Given the description of an element on the screen output the (x, y) to click on. 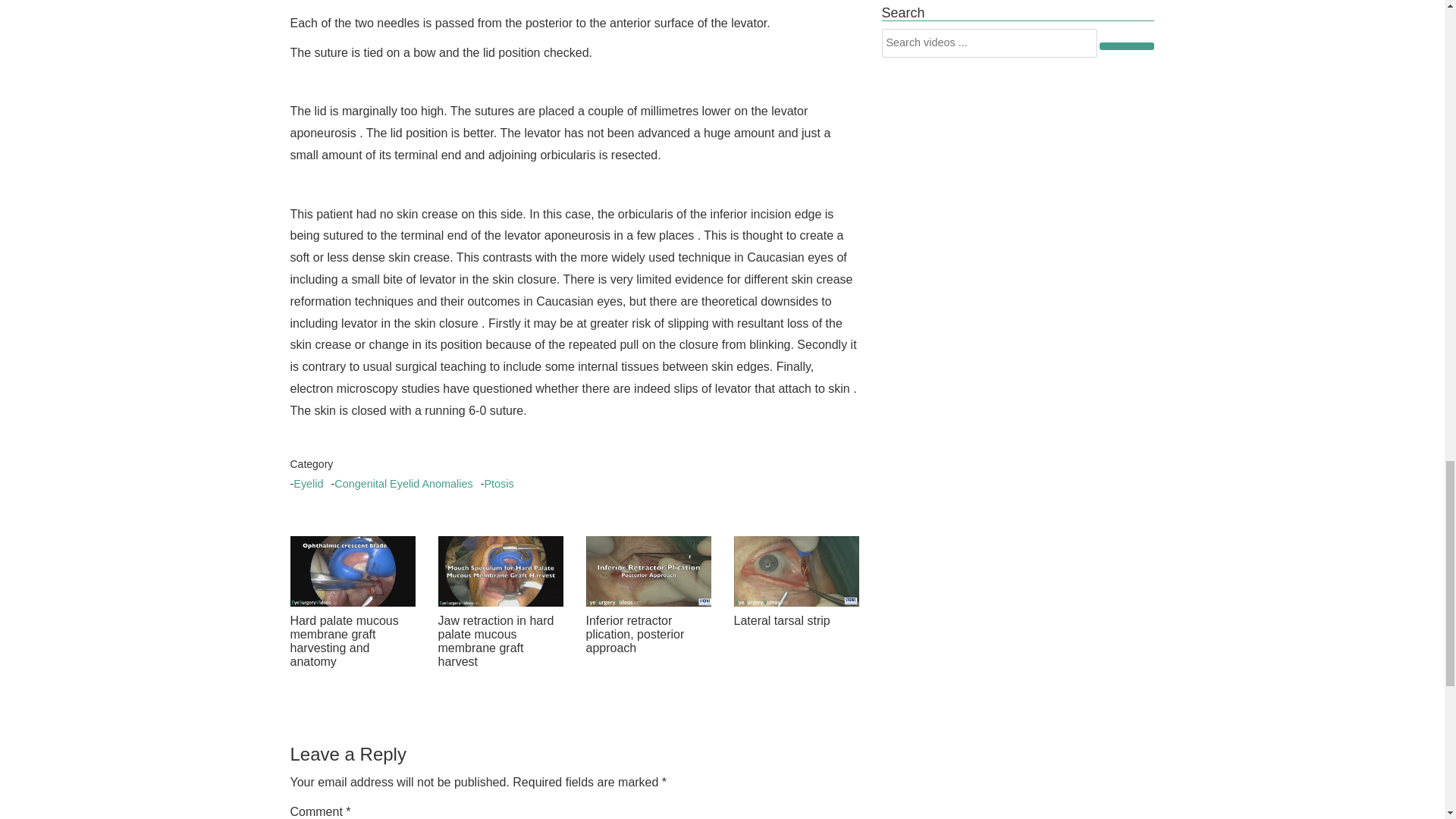
Lateral tarsal strip (796, 621)
Inferior retractor plication, posterior approach (647, 569)
Jaw retraction in hard palate mucous membrane graft harvest (500, 641)
Jaw retraction in hard palate mucous membrane graft harvest (500, 569)
Inferior retractor plication, posterior approach (647, 634)
Hard palate mucous membrane graft harvesting and anatomy (351, 641)
Hard palate mucous membrane graft harvesting and anatomy (351, 569)
Lateral tarsal strip (796, 569)
